Given the description of an element on the screen output the (x, y) to click on. 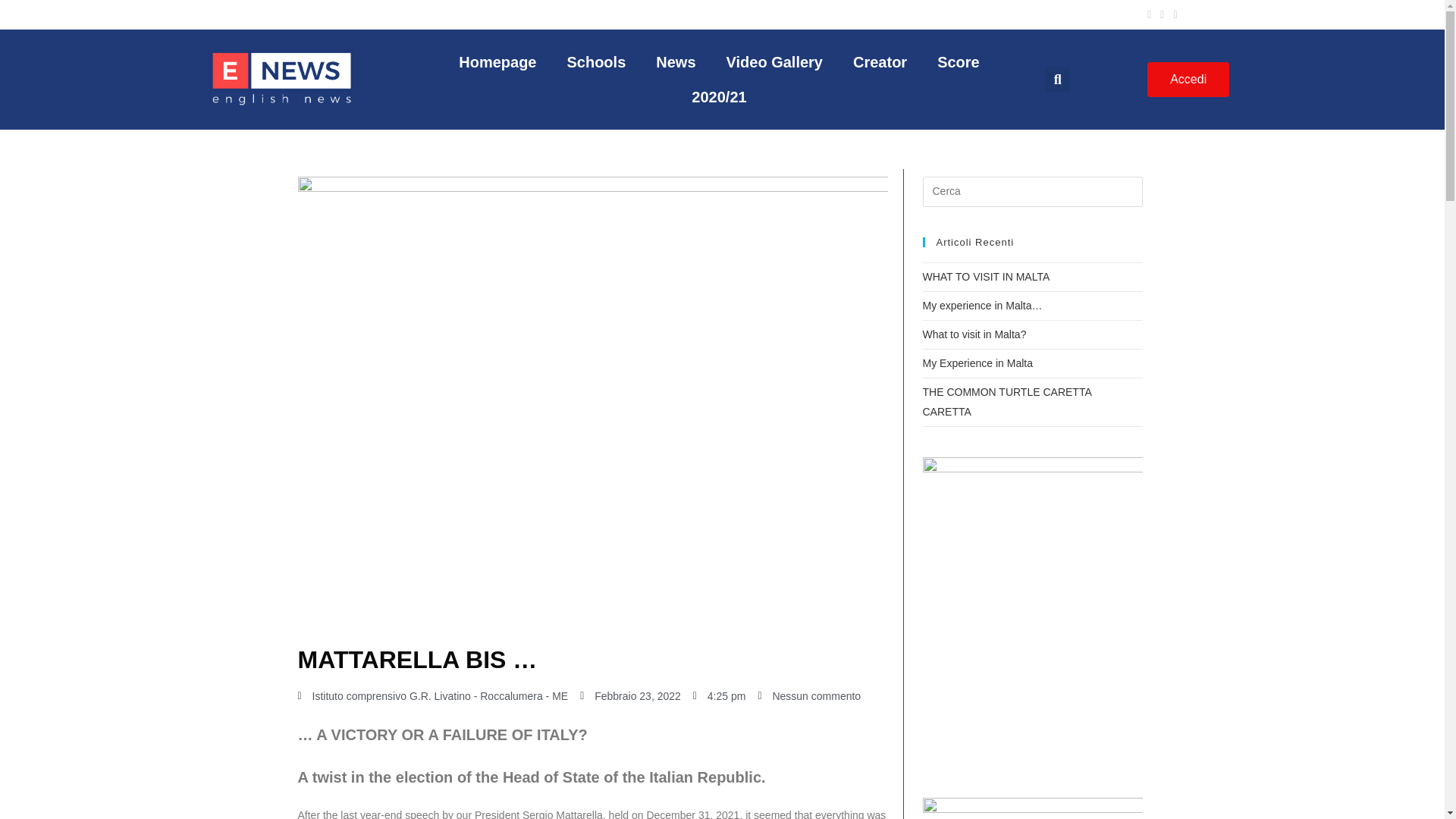
Accedi (1187, 79)
Video Gallery (774, 62)
Nessun commento (808, 696)
Istituto comprensivo G.R. Livatino - Roccalumera - ME (432, 696)
Creator (879, 62)
Homepage (497, 62)
News (675, 62)
Febbraio 23, 2022 (630, 696)
Score (957, 62)
WHAT TO VISIT IN MALTA (985, 276)
Schools (595, 62)
